Given the description of an element on the screen output the (x, y) to click on. 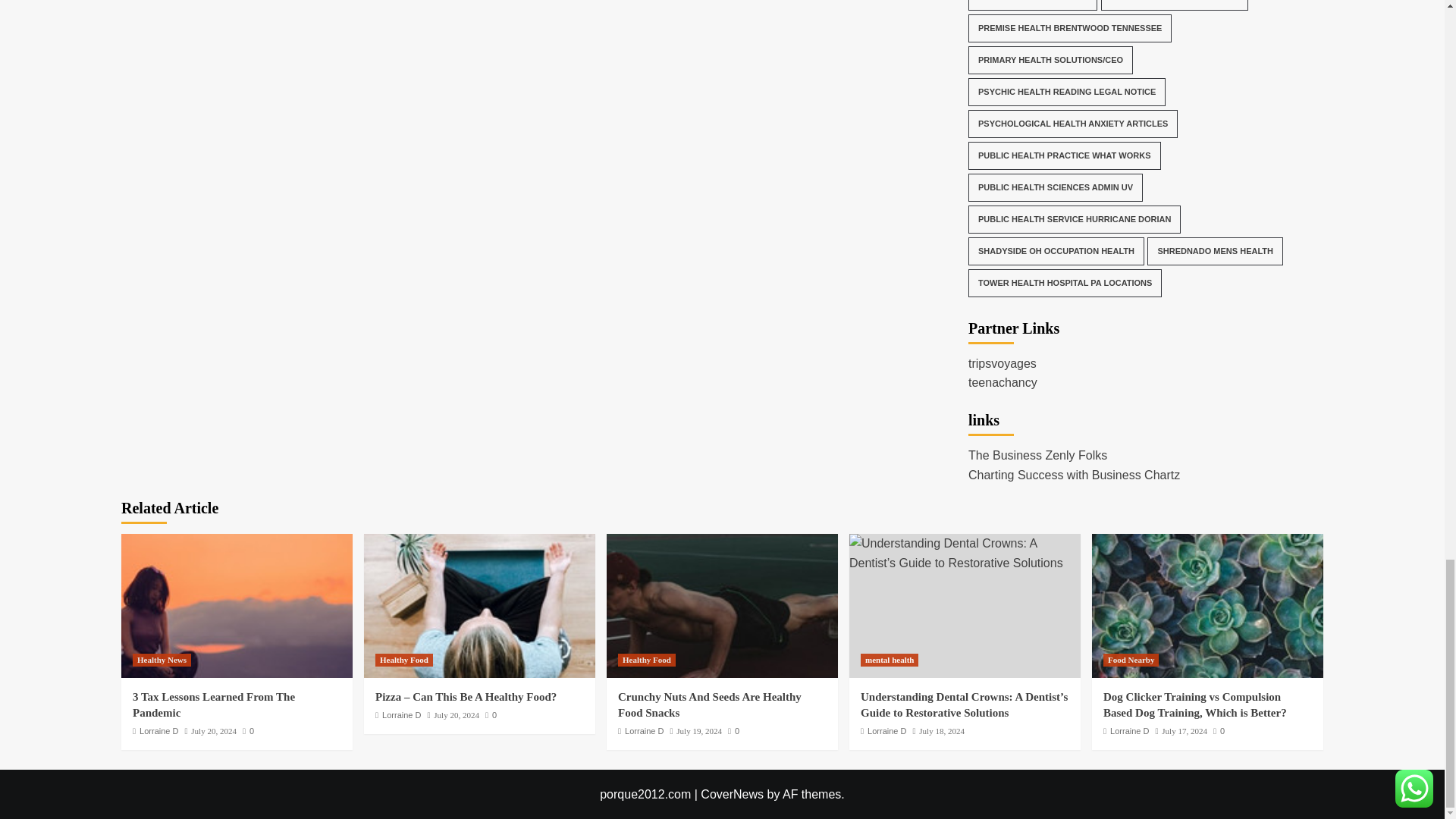
3 Tax Lessons Learned From The Pandemic (236, 605)
